Given the description of an element on the screen output the (x, y) to click on. 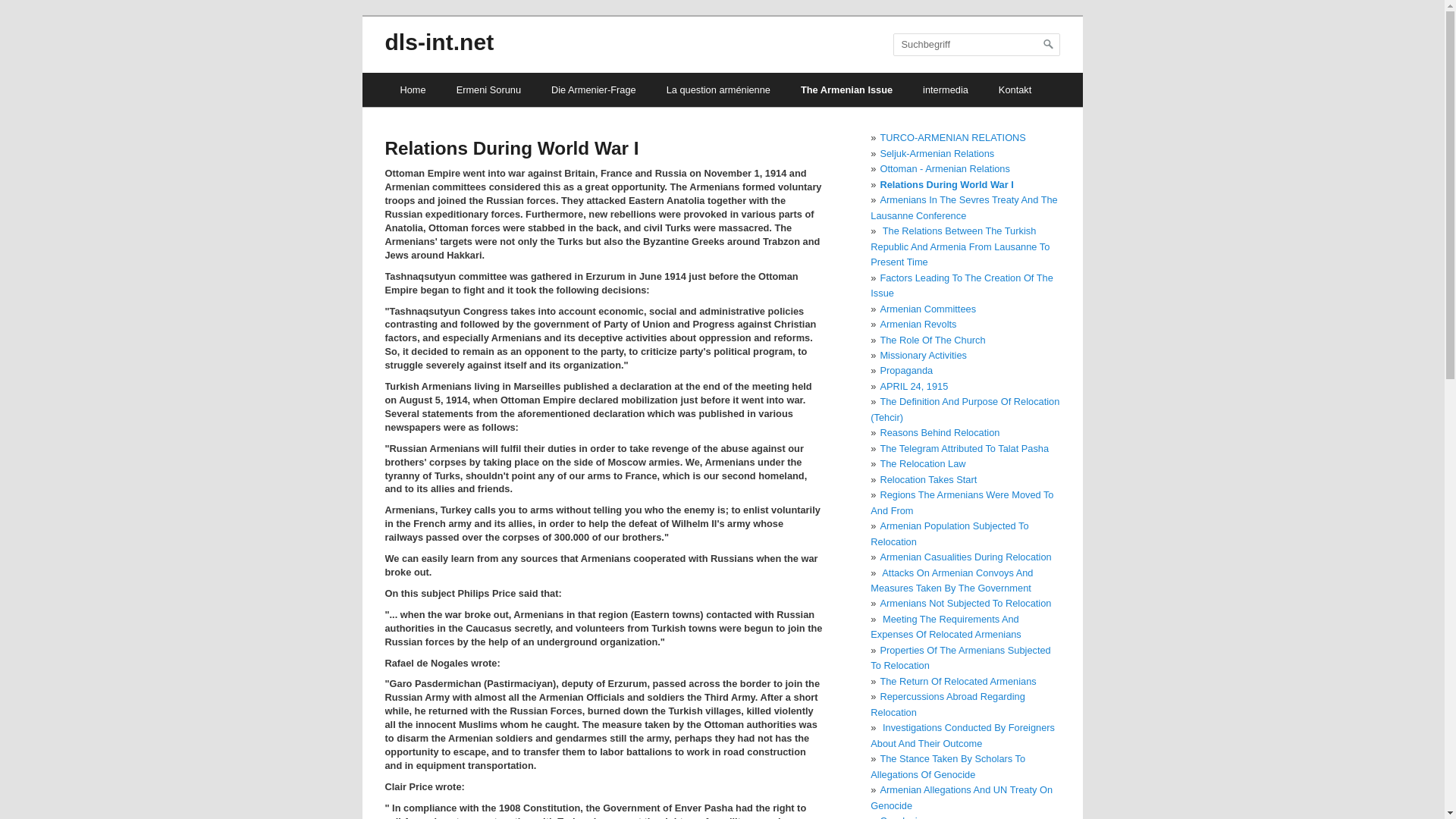
Ottoman - Armenian Relations (944, 168)
The Stance Taken By Scholars To Allegations Of Genocide (947, 765)
Repercussions Abroad Regarding Relocation (947, 704)
Factors Leading To The Creation Of The Issue (961, 284)
The Relocation Law (922, 463)
Suchbegriff (976, 44)
Armenians In The Sevres Treaty And The Lausanne Conference (963, 207)
Kontakt (1015, 89)
The Role Of The Church (932, 338)
Armenian Population Subjected To Relocation (948, 533)
Relations During World War I (946, 184)
Armenians Not Subjected To Relocation (965, 603)
Relocation Takes Start (927, 479)
